Given the description of an element on the screen output the (x, y) to click on. 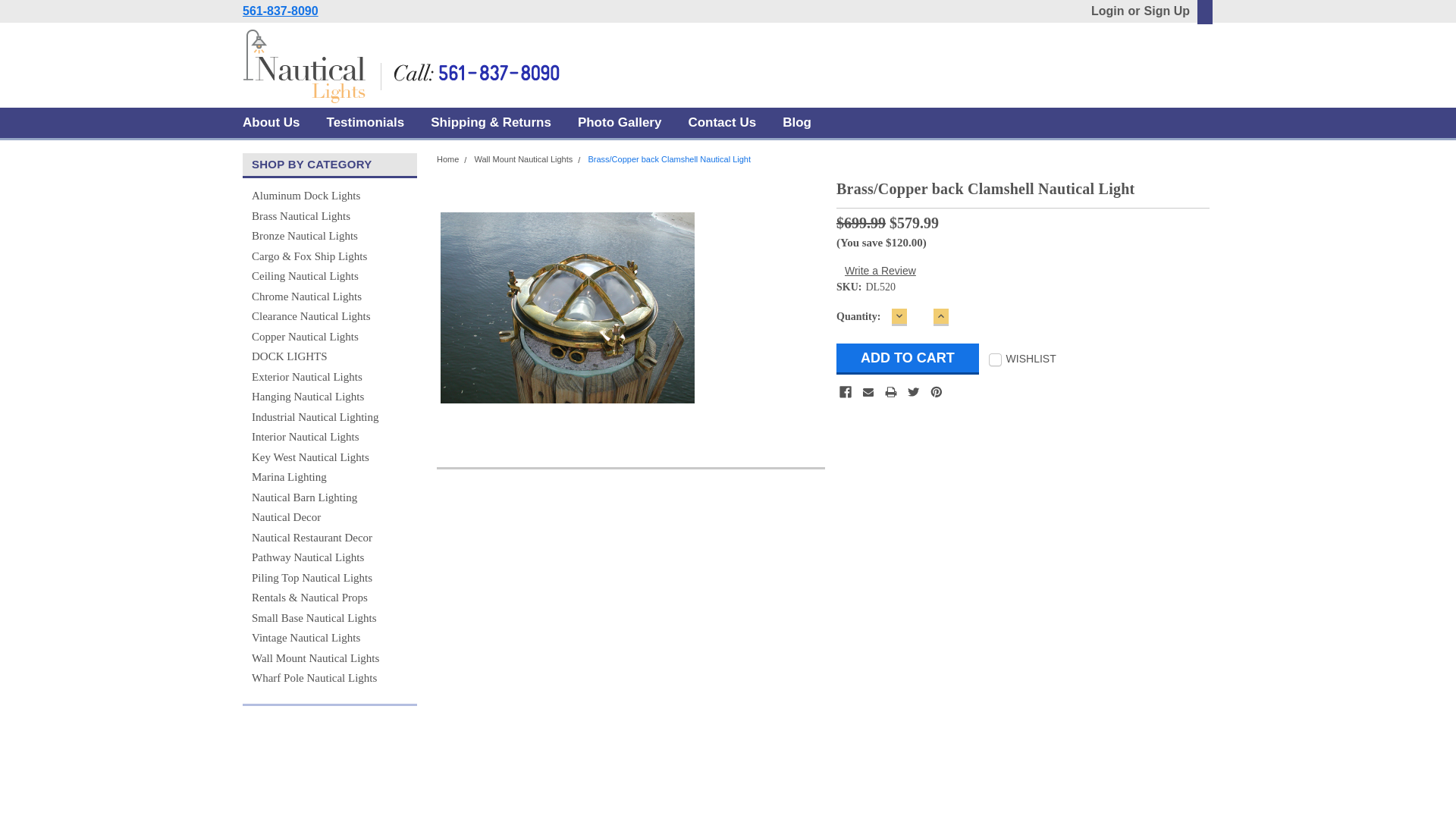
Nautical Lights (401, 66)
1 (920, 317)
vintage nautical bulkhead light (567, 307)
Login (1107, 11)
Sign Up (1164, 11)
561-837-8090 (280, 10)
Add to Cart (906, 358)
